Given the description of an element on the screen output the (x, y) to click on. 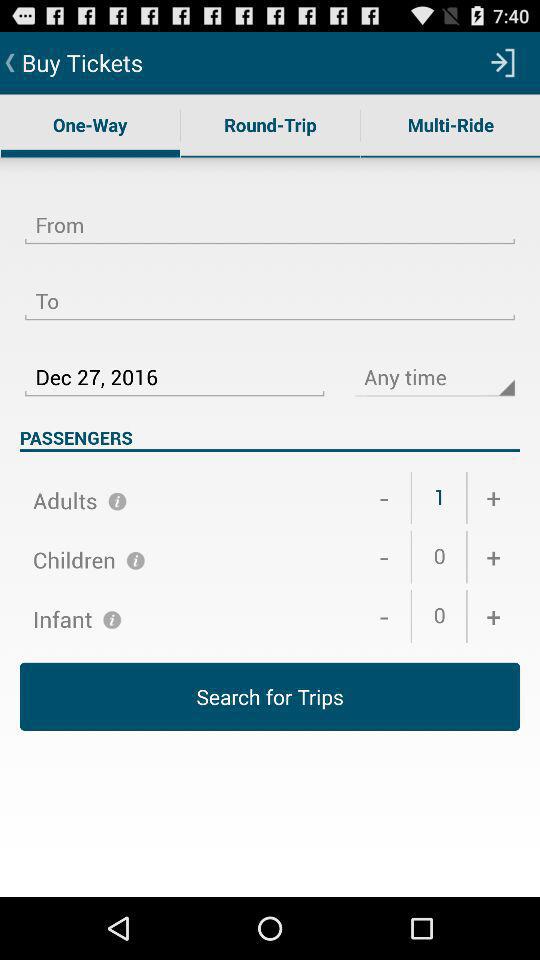
turn on item next to buy tickets app (503, 62)
